Given the description of an element on the screen output the (x, y) to click on. 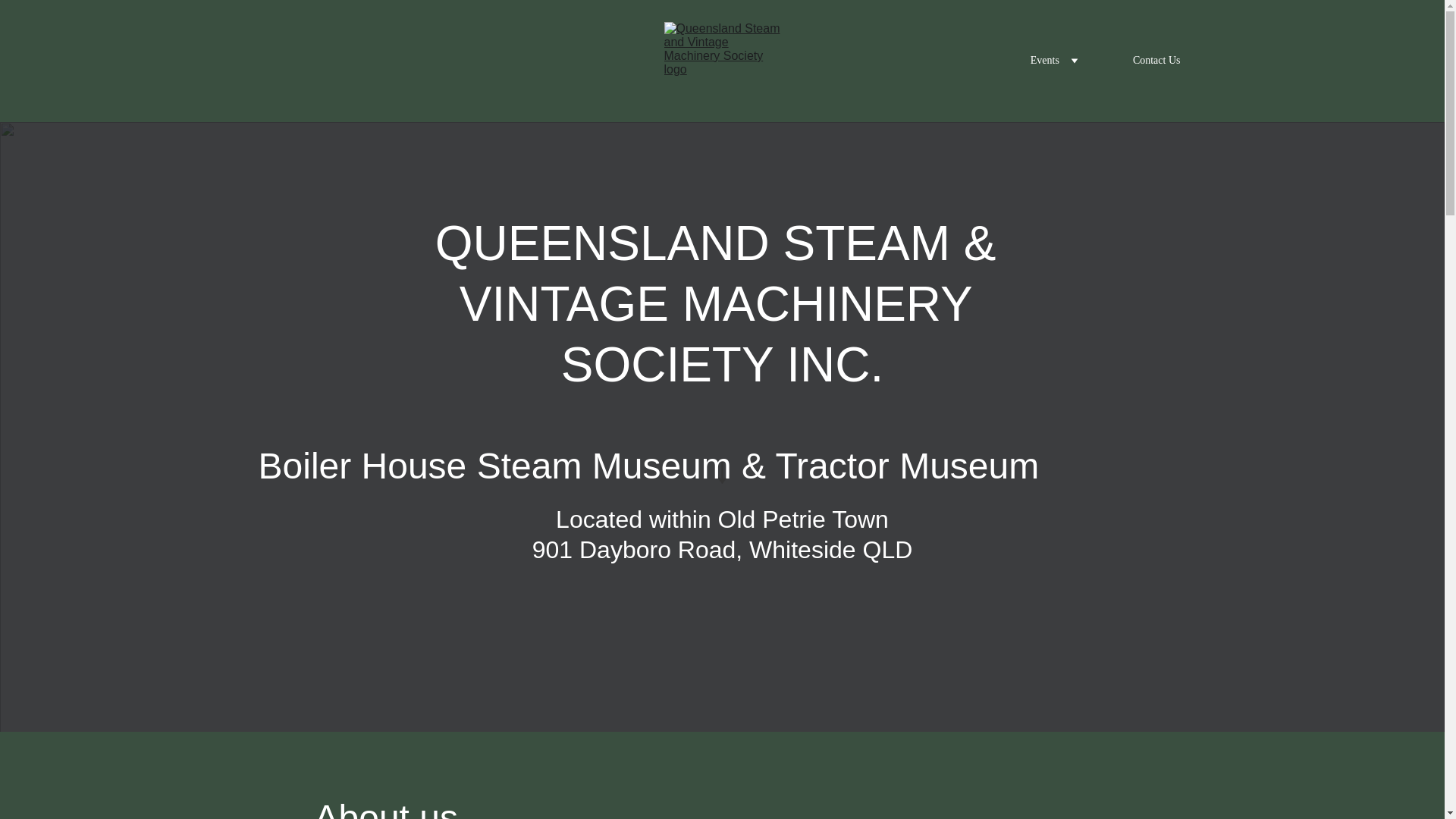
Contact Us Element type: text (1156, 60)
